Given the description of an element on the screen output the (x, y) to click on. 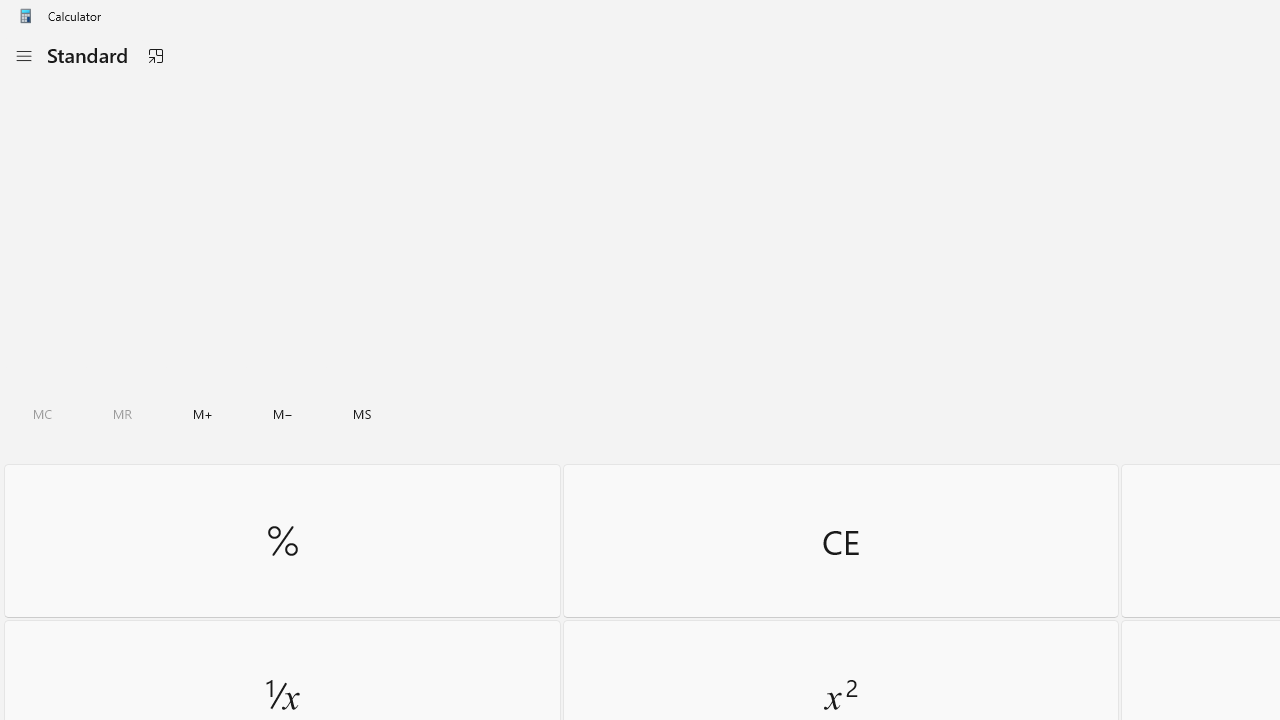
Memory add (202, 414)
Memory subtract (283, 414)
Clear entry (840, 540)
Clear all memory (42, 414)
Open Navigation (23, 56)
Percent (281, 540)
Memory recall (123, 414)
Memory store (362, 414)
Keep on top (155, 56)
